Given the description of an element on the screen output the (x, y) to click on. 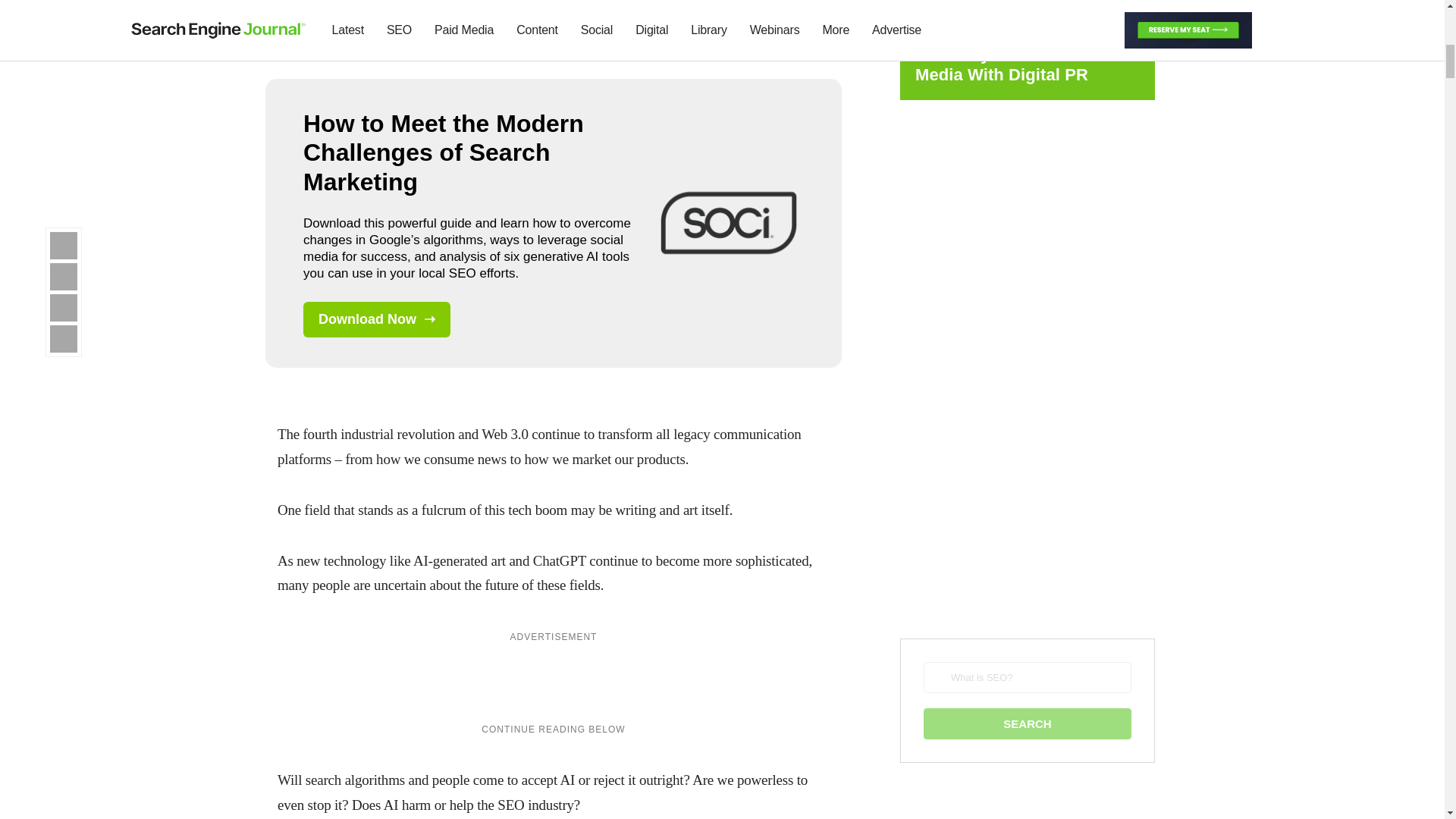
SEARCH (1027, 723)
SEARCH (1027, 723)
